Given the description of an element on the screen output the (x, y) to click on. 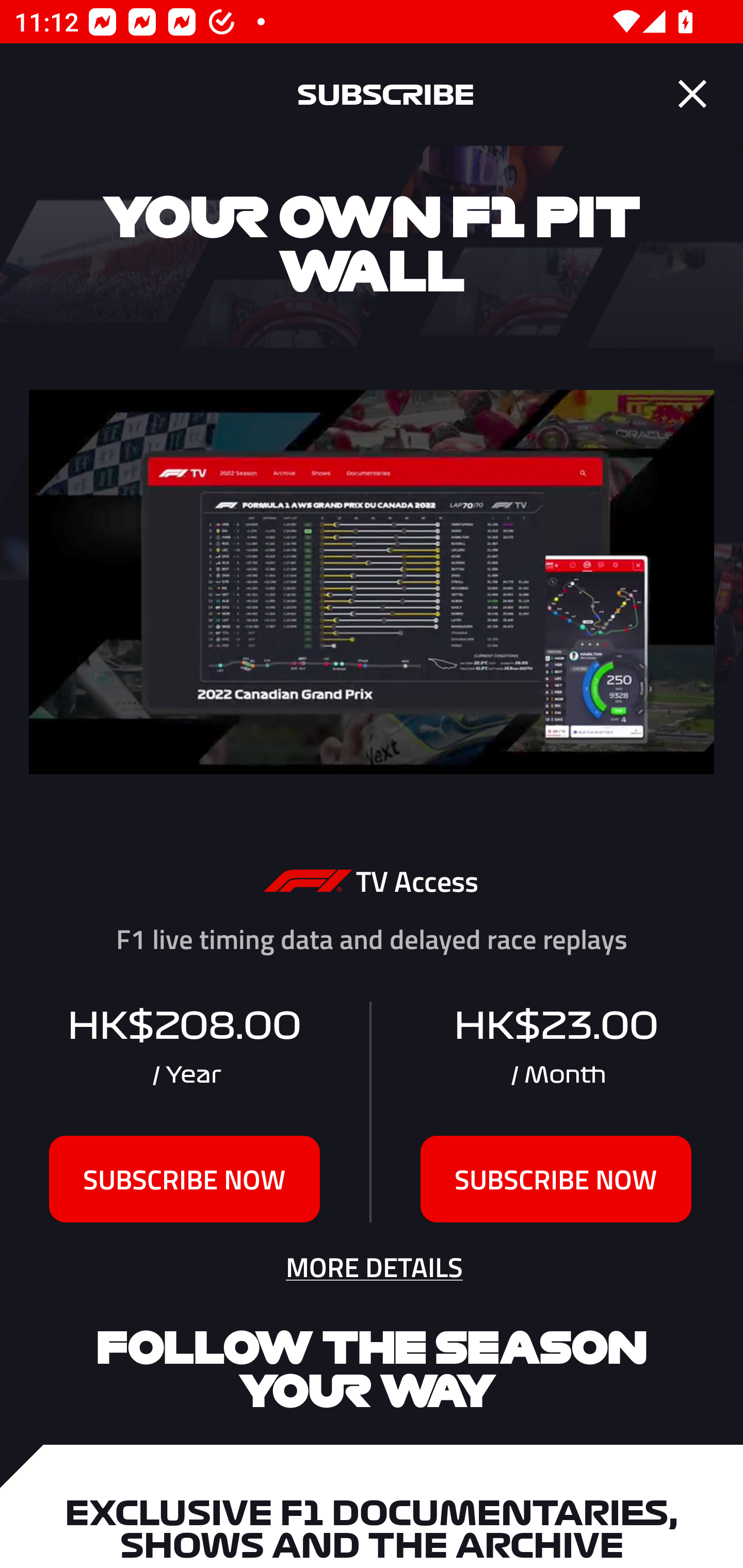
Close (692, 93)
SUBSCRIBE NOW (184, 1179)
SUBSCRIBE NOW (555, 1179)
